Given the description of an element on the screen output the (x, y) to click on. 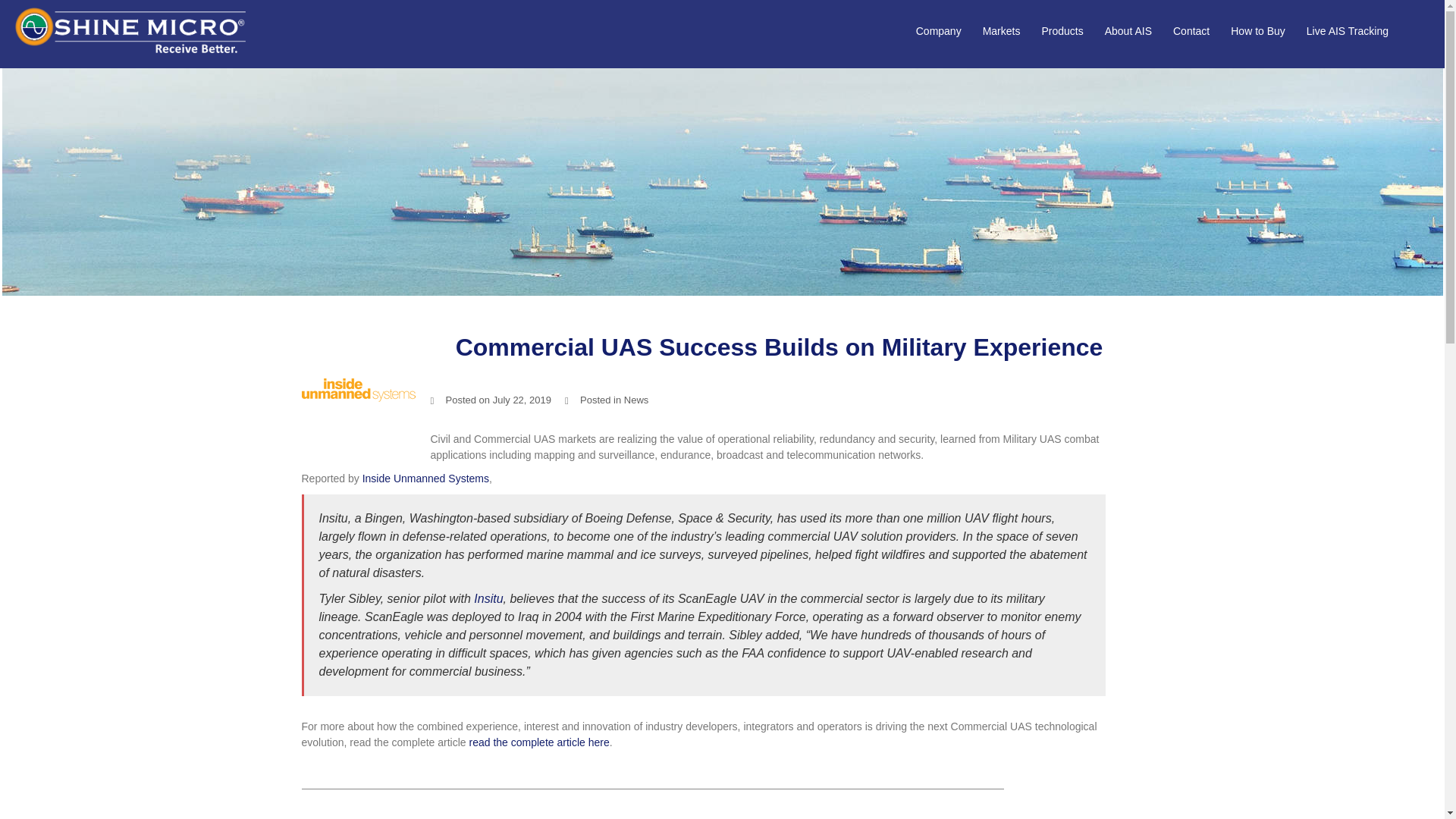
Company (937, 31)
Markets (1001, 31)
Products (1062, 31)
Shine Micro (130, 33)
